Given the description of an element on the screen output the (x, y) to click on. 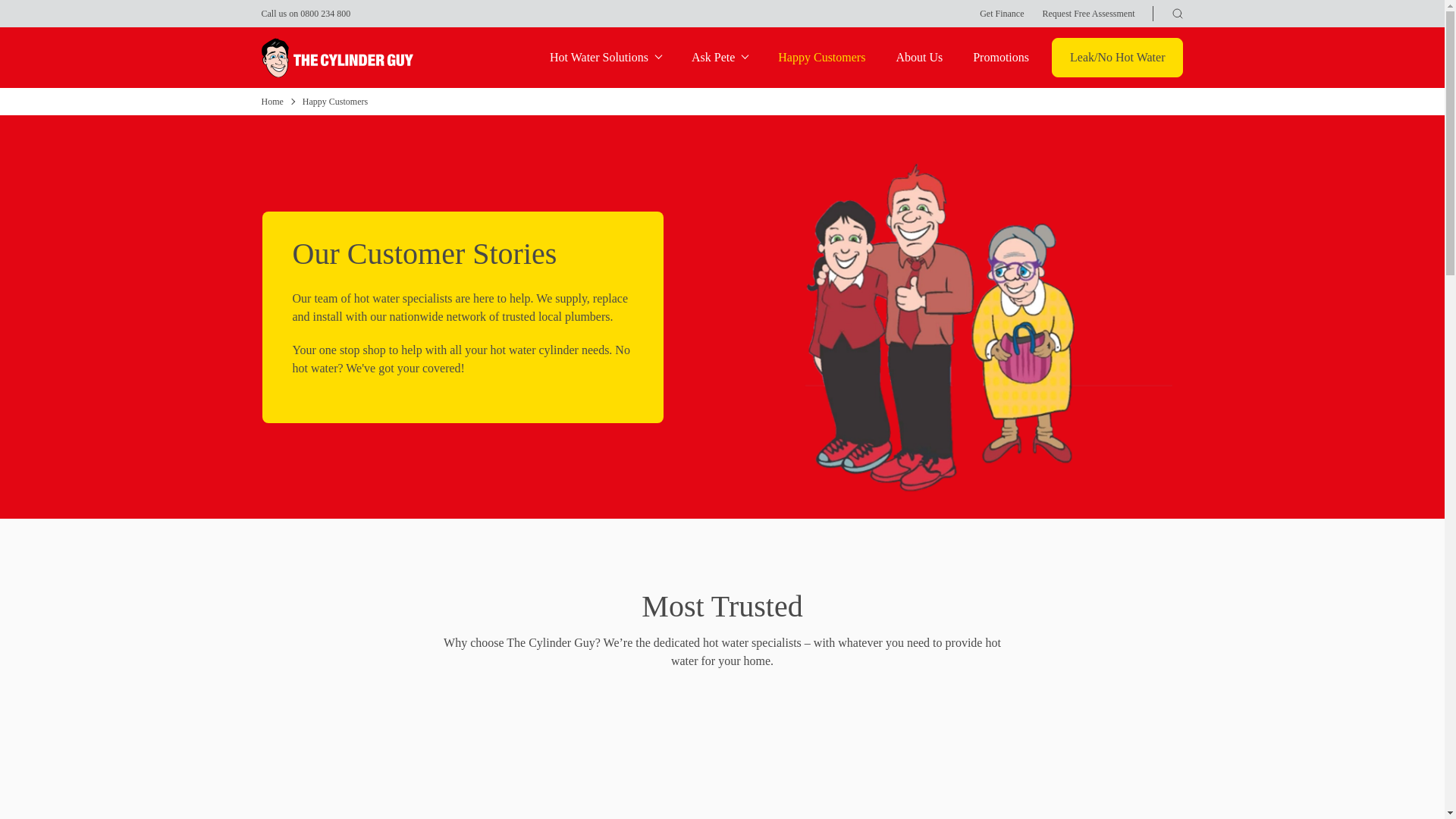
Promotions (1000, 57)
Search (875, 14)
TCG (336, 56)
About Us (918, 57)
Get Finance (1001, 13)
Promotions (1000, 57)
Ask Pete (719, 57)
About Us (918, 57)
Hot Water Solutions (605, 57)
Ask Pete (719, 57)
Request Free Assessment (1088, 13)
0800 234 800 (324, 13)
0800 234 800 (324, 13)
Happy Customers (820, 57)
Hot Water Solutions (605, 57)
